Given the description of an element on the screen output the (x, y) to click on. 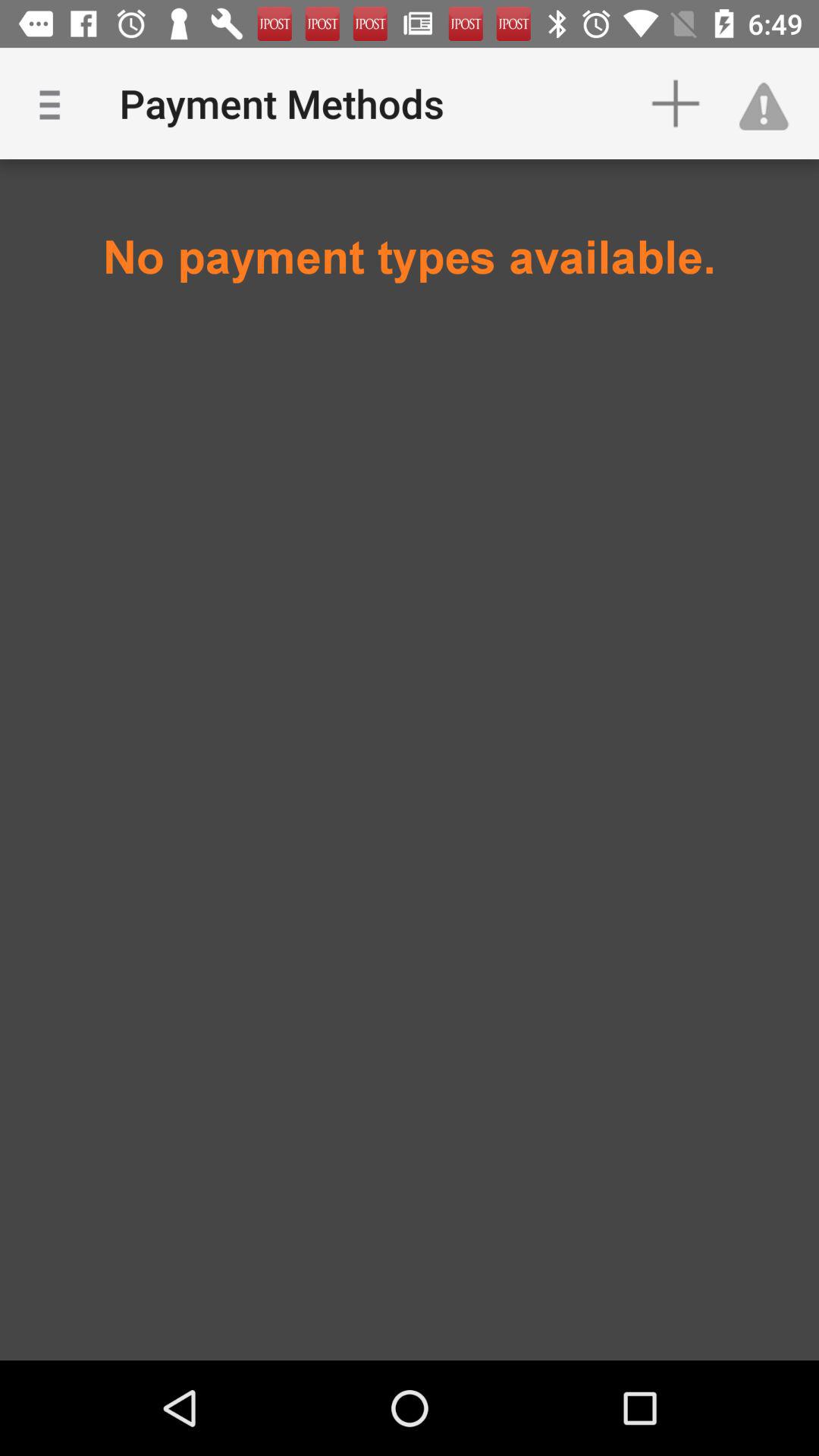
click app to the right of the payment methods (675, 103)
